Given the description of an element on the screen output the (x, y) to click on. 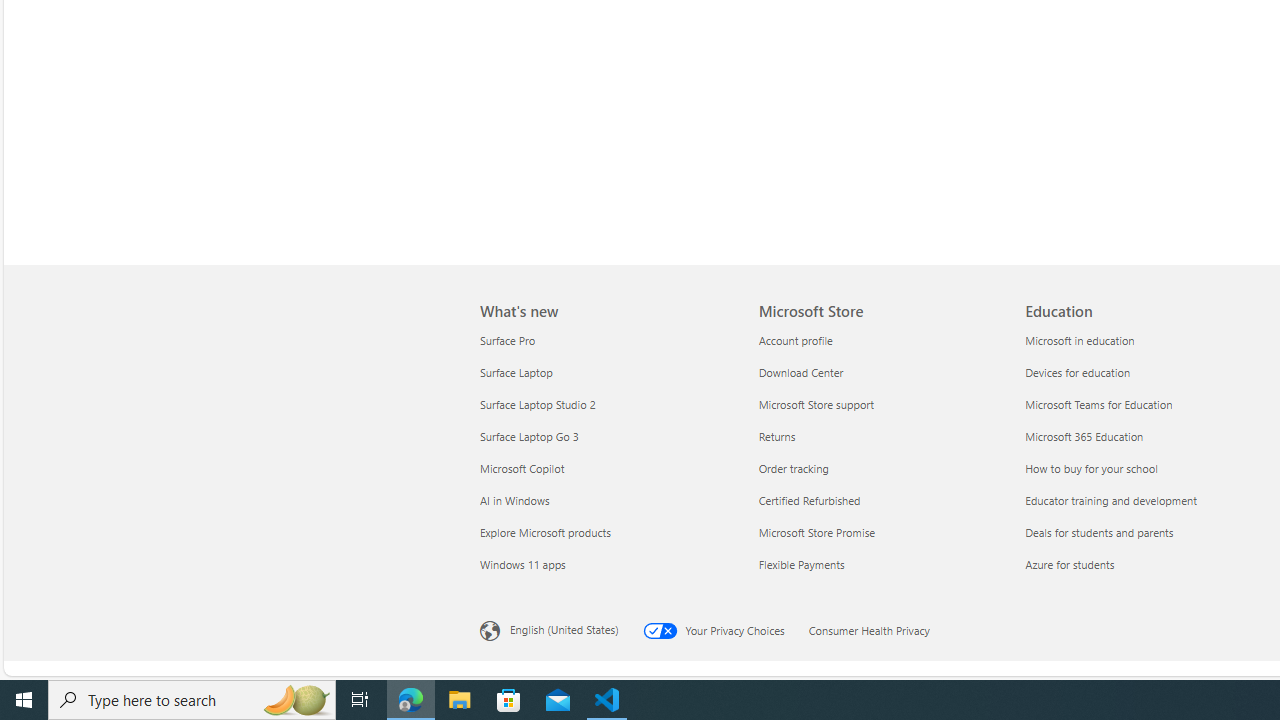
Account profile Microsoft Store (795, 339)
Download Center Microsoft Store (800, 372)
Microsoft 365 Education Education (1084, 435)
Microsoft Store Promise (879, 532)
Explore Microsoft products (607, 532)
Microsoft Teams for Education (1146, 404)
How to buy for your school Education (1091, 467)
Microsoft Copilot What's new (522, 467)
Educator training and development Education (1111, 499)
Returns Microsoft Store (776, 435)
Deals for students and parents (1146, 532)
Surface Laptop (607, 371)
Certified Refurbished Microsoft Store (809, 499)
Consumer Health Privacy (880, 628)
